Given the description of an element on the screen output the (x, y) to click on. 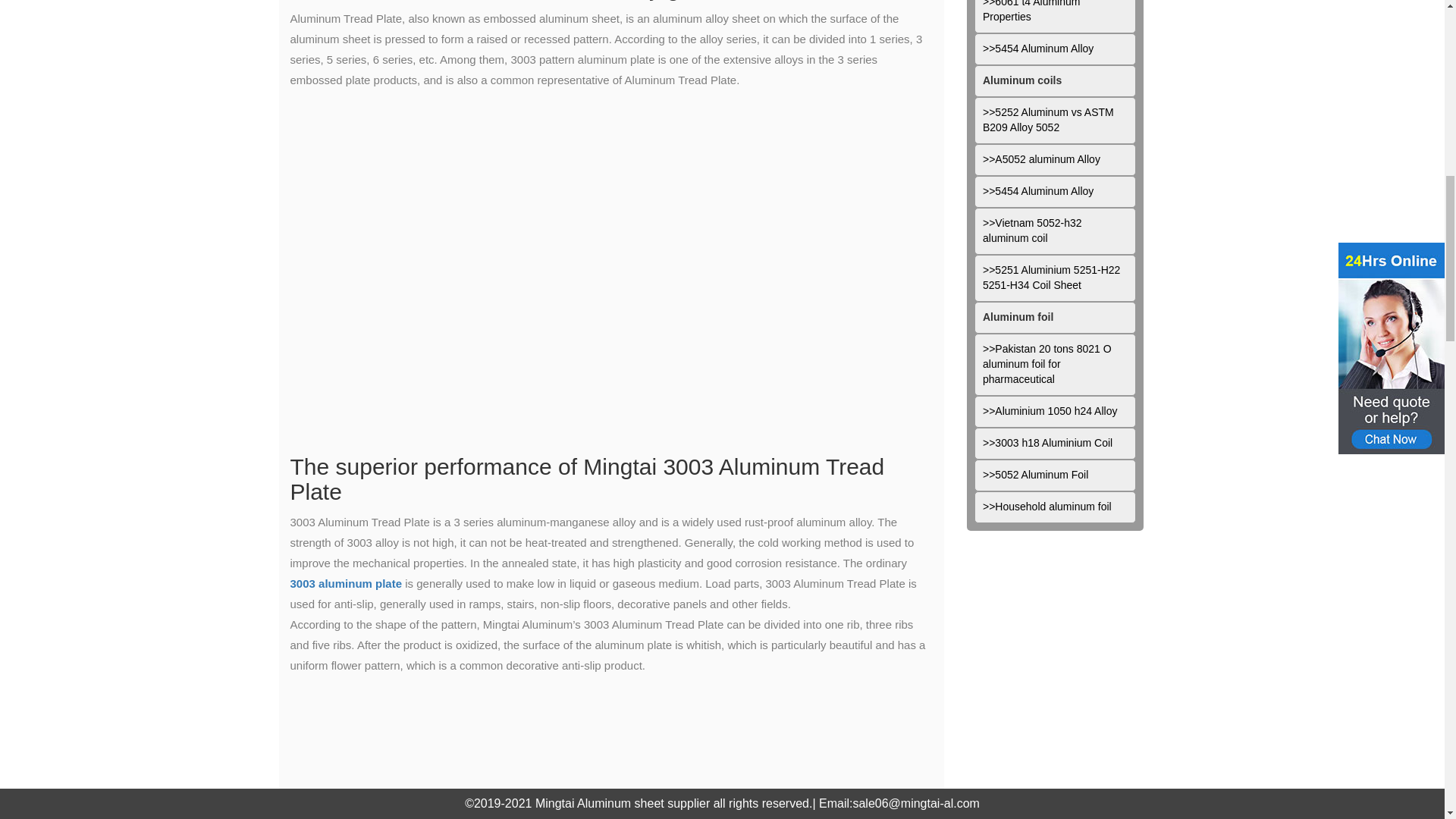
3003 aluminum plate (345, 583)
3003 aluminum plate (345, 583)
5252 Aluminum vs ASTM B209 Alloy 5052 (1054, 120)
6061 t4 Aluminum Properties (1054, 16)
5454 Aluminum Alloy (1054, 49)
